Given the description of an element on the screen output the (x, y) to click on. 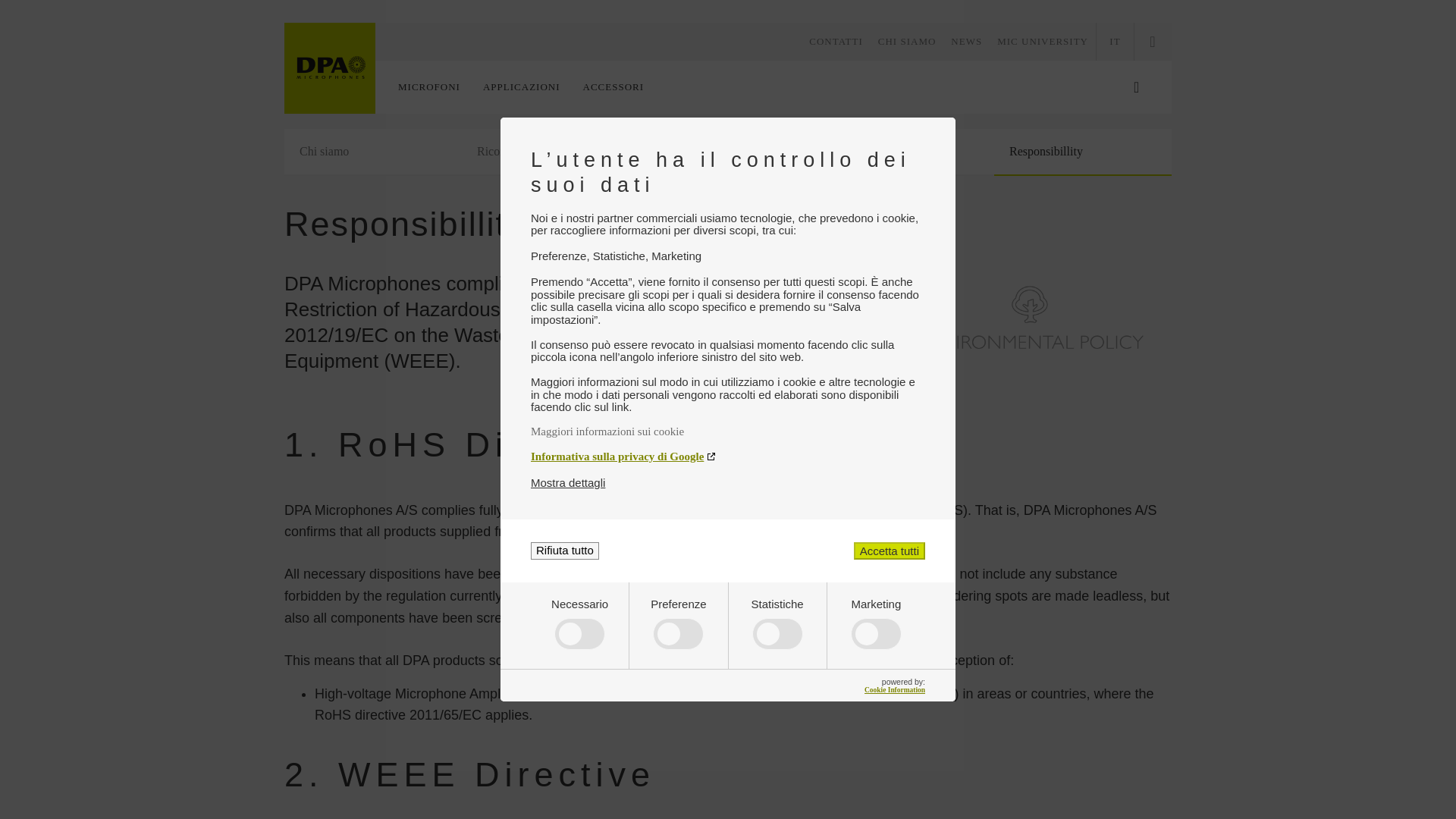
Maggiori informazioni sui cookie (727, 431)
Mostra dettagli (568, 481)
Informativa sulla privacy di Google (727, 456)
